Given the description of an element on the screen output the (x, y) to click on. 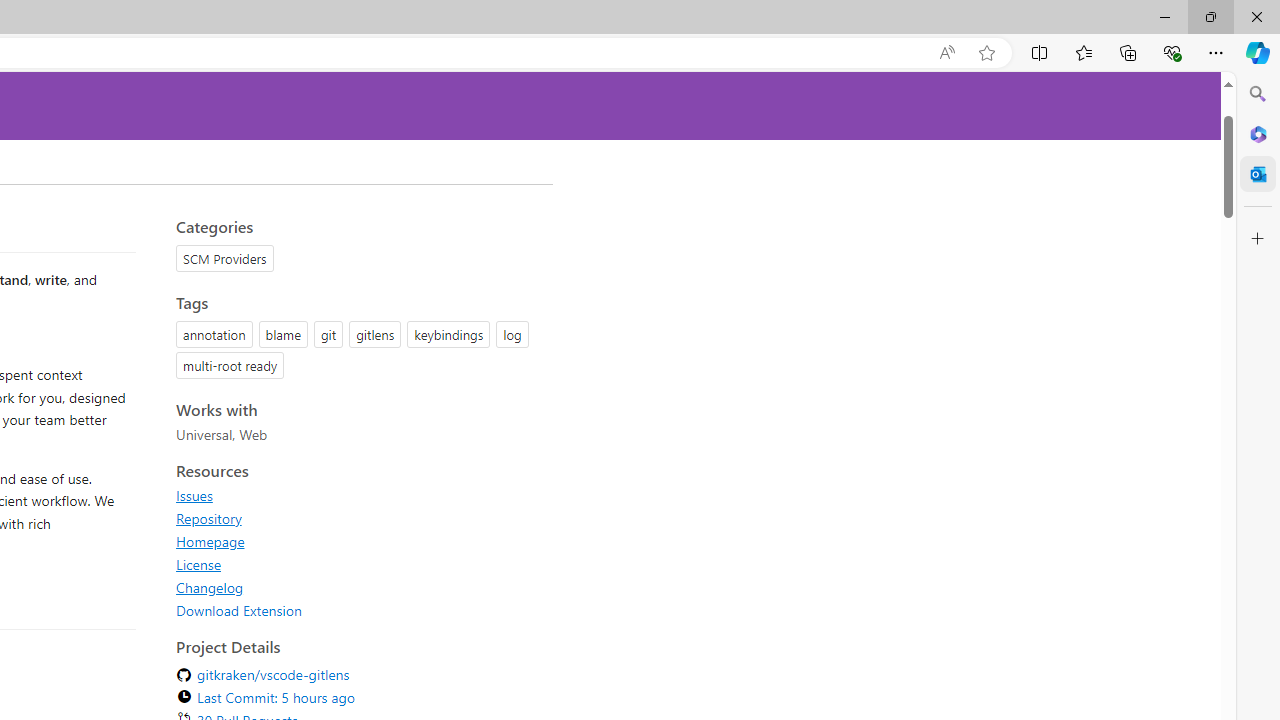
License (198, 564)
Changelog (210, 587)
Repository (208, 518)
Changelog (358, 587)
